Given the description of an element on the screen output the (x, y) to click on. 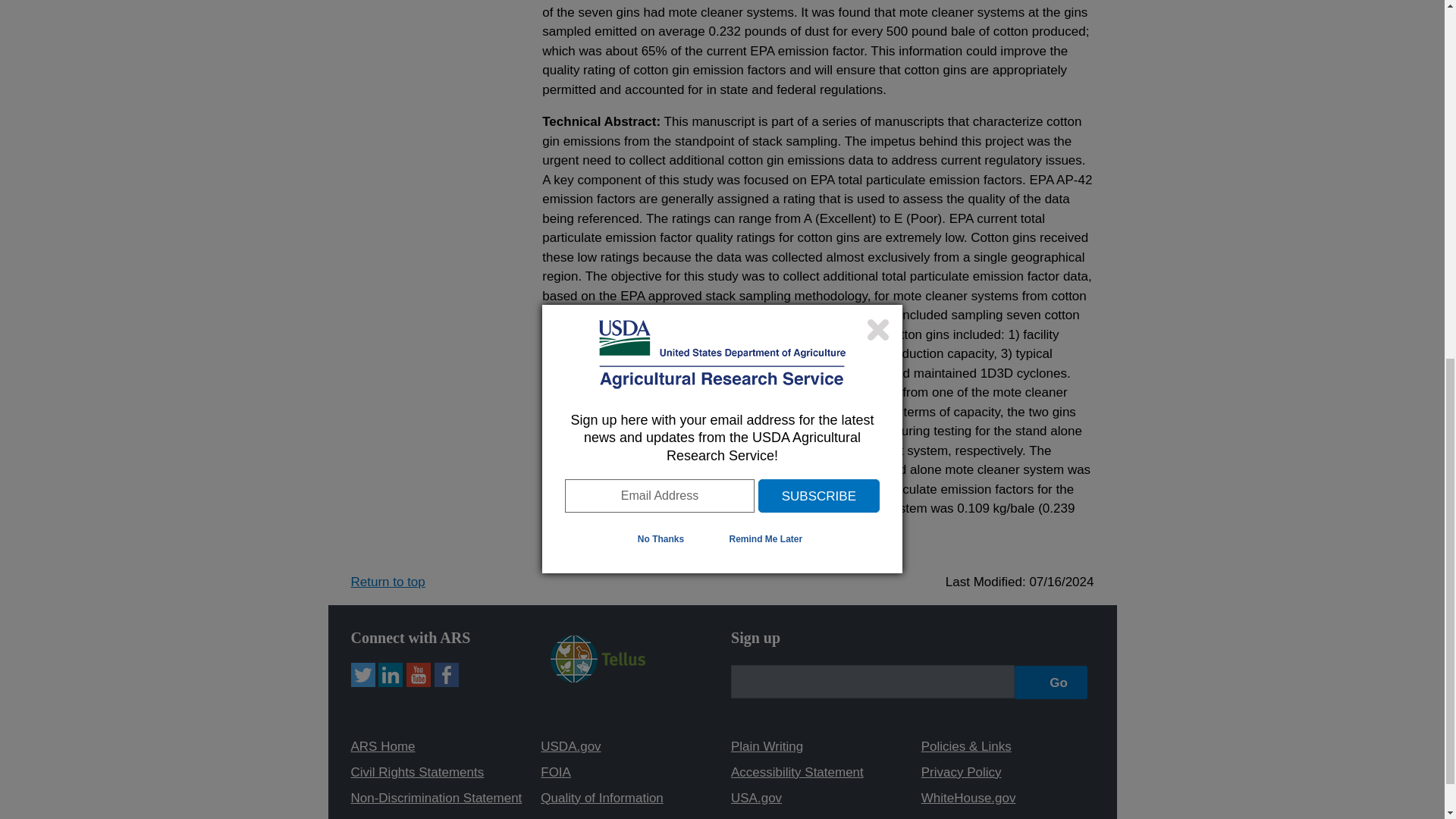
Tellus (597, 677)
Go (1050, 682)
Tellus (597, 658)
email (872, 681)
Twitter (362, 674)
LinkedIn (390, 674)
Facebook Icon (445, 674)
Youtube (418, 674)
